Given the description of an element on the screen output the (x, y) to click on. 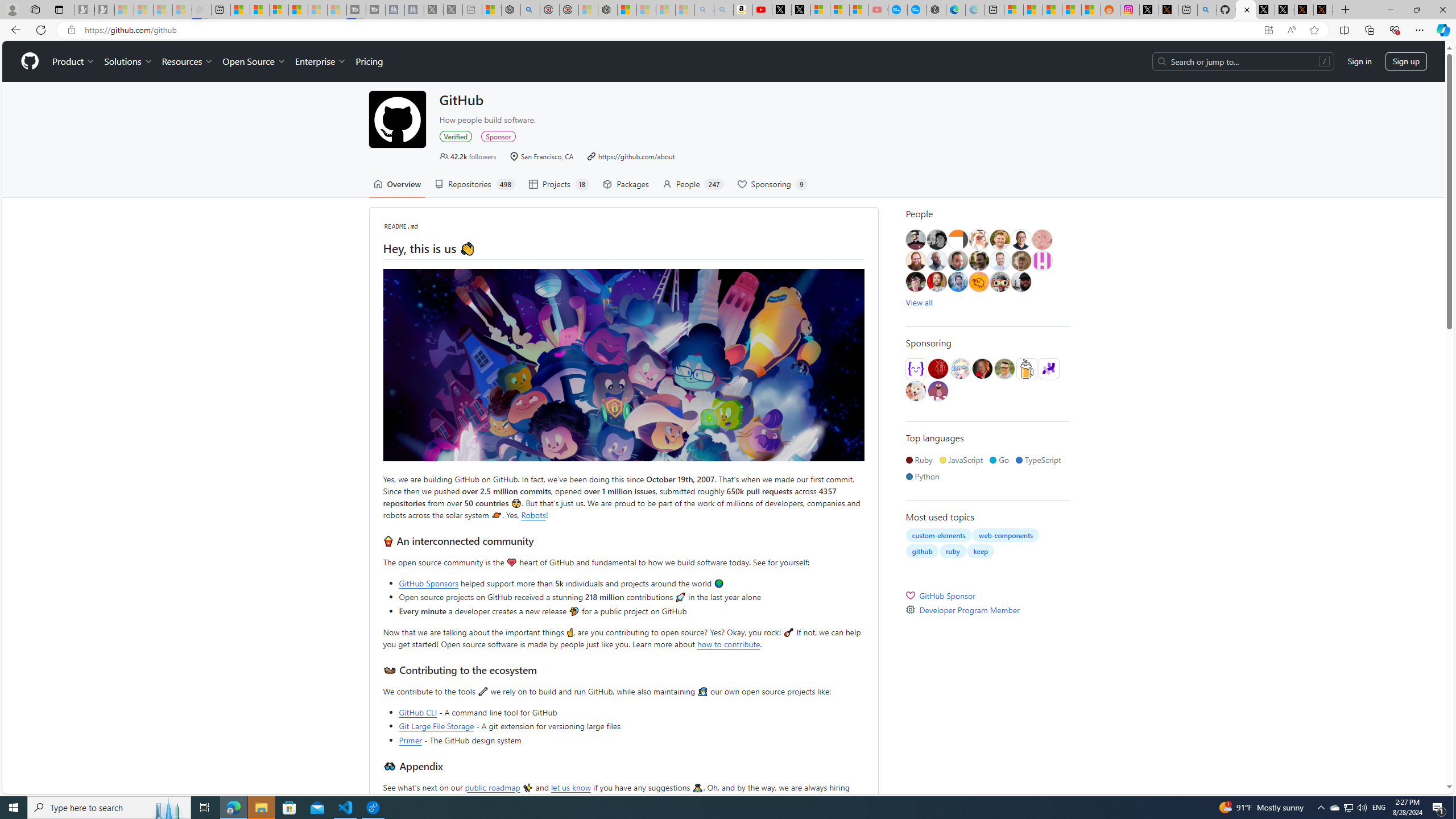
@rubiojr (1000, 281)
Robots (533, 514)
@tma (1000, 260)
Ruby (921, 459)
Sponsoring 9 (772, 184)
public roadmap (491, 786)
github (922, 550)
Sponsor (497, 136)
Opinion: Op-Ed and Commentary - USA TODAY (897, 9)
@nickh (1020, 260)
@sbryant (1042, 260)
keep (980, 550)
